Given the description of an element on the screen output the (x, y) to click on. 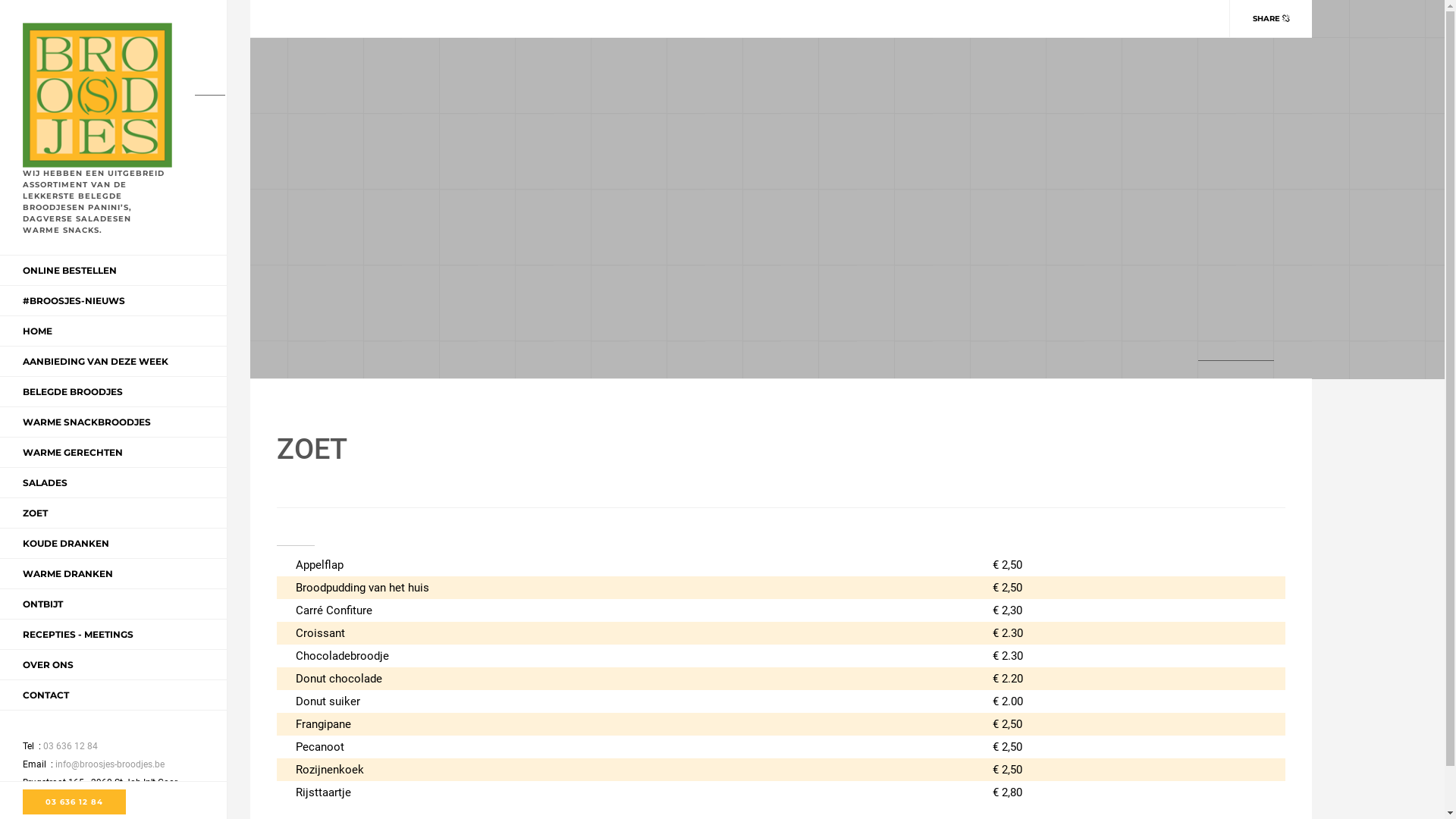
ZOET Element type: text (34, 512)
ONTBIJT Element type: text (42, 603)
info@broosjes-broodjes.be Element type: text (106, 764)
#BROOSJES-NIEUWS Element type: text (73, 300)
AANBIEDING VAN DEZE WEEK Element type: text (95, 361)
CONTACT Element type: text (45, 694)
OVER ONS Element type: text (47, 664)
HOME Element type: text (37, 330)
03 636 12 84 Element type: text (66, 745)
ONLINE BESTELLEN Element type: text (69, 270)
BELEGDE BROODJES Element type: text (72, 391)
WARME GERECHTEN Element type: text (72, 452)
SALADES Element type: text (44, 482)
WARME SNACKBROODJES Element type: text (86, 421)
03 636 12 84 Element type: text (73, 801)
RECEPTIES - MEETINGS Element type: text (77, 634)
KOUDE DRANKEN Element type: text (65, 543)
WARME DRANKEN Element type: text (67, 573)
